Given the description of an element on the screen output the (x, y) to click on. 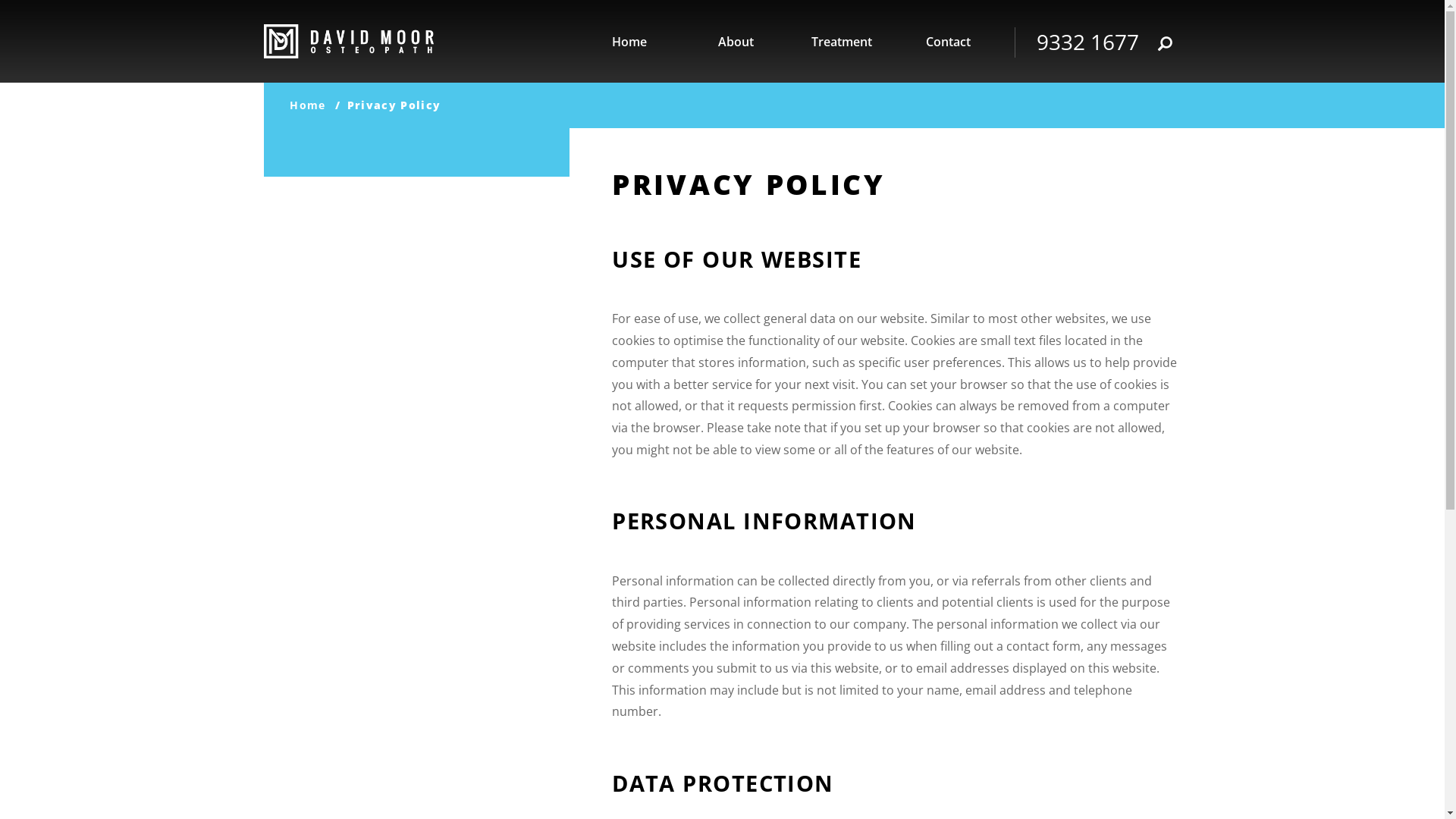
Home Element type: text (628, 41)
Treatment Element type: text (841, 41)
Contact Element type: text (947, 41)
Home Element type: text (307, 104)
9332 1677 Element type: text (1087, 41)
About Element type: text (735, 41)
